Given the description of an element on the screen output the (x, y) to click on. 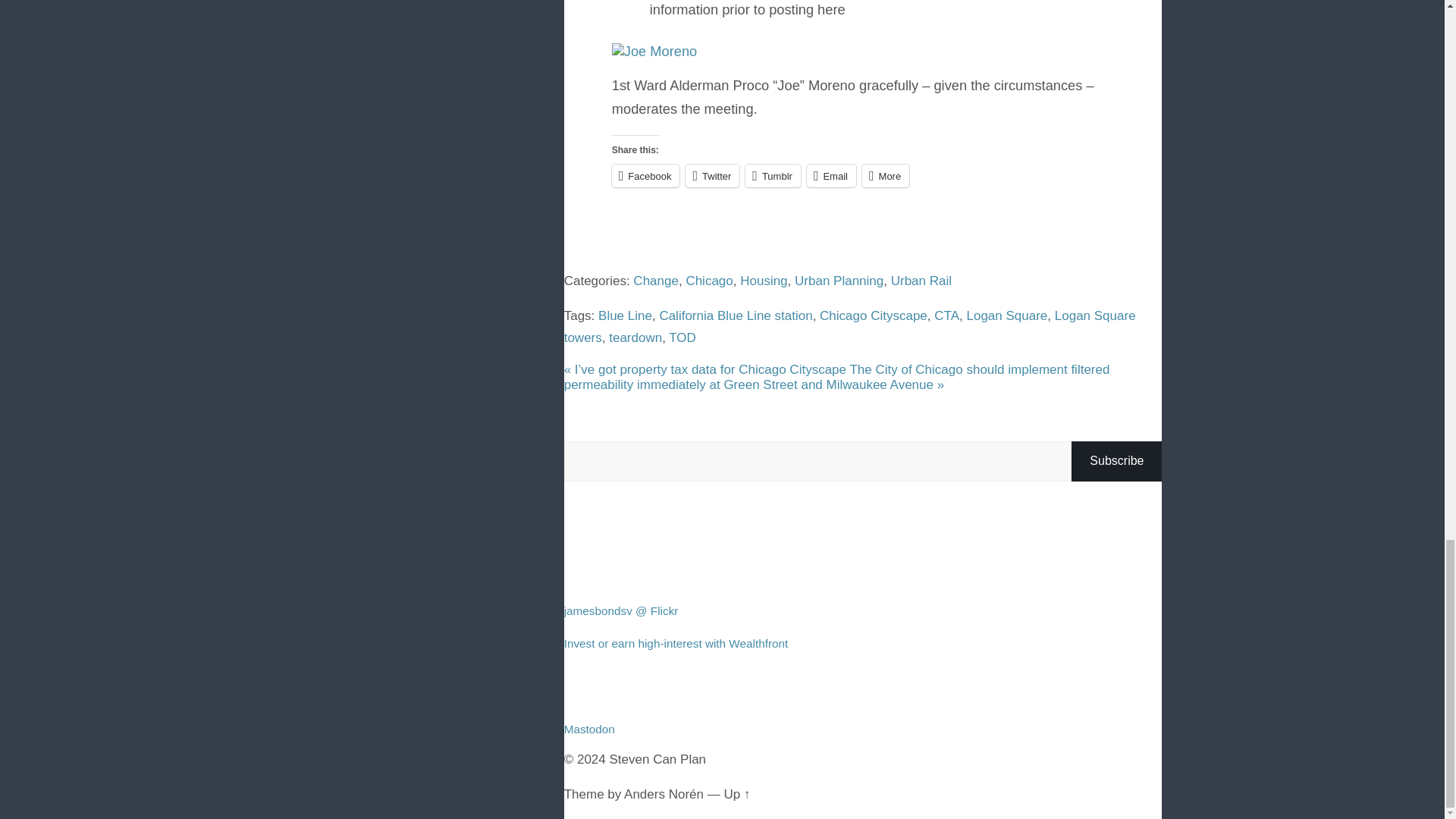
Untitled by Steven Vance, on Flickr (654, 50)
Click to share on Facebook (645, 175)
Twitter (712, 175)
Click to share on Tumblr (772, 175)
Facebook (645, 175)
Email (831, 175)
Click to email a link to a friend (831, 175)
Click to share on Twitter (712, 175)
Tumblr (772, 175)
